Given the description of an element on the screen output the (x, y) to click on. 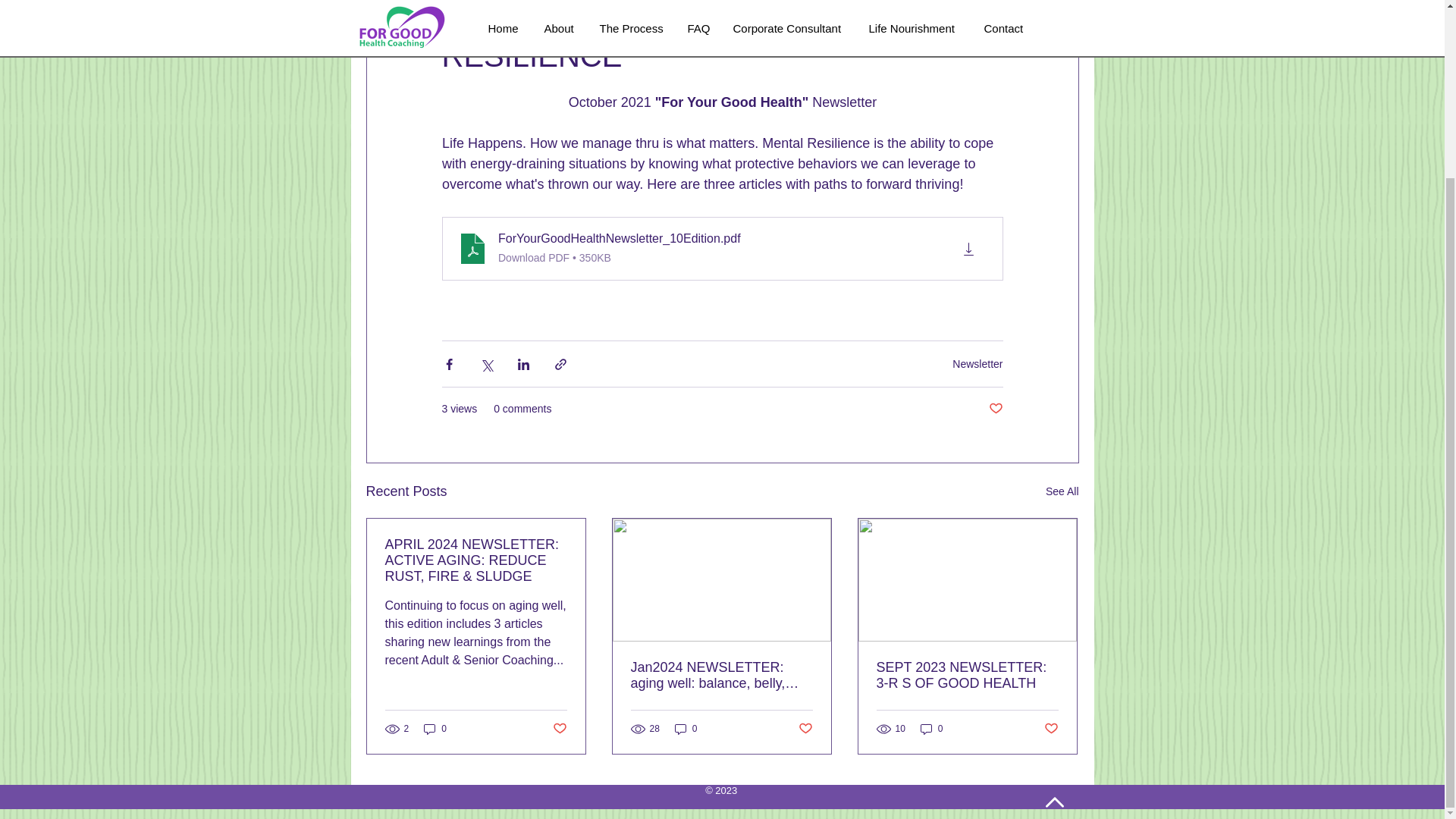
Post not marked as liked (995, 408)
0 (435, 728)
0 (931, 728)
Post not marked as liked (1050, 728)
0 (685, 728)
SEPT 2023 NEWSLETTER: 3-R S OF GOOD HEALTH (967, 675)
Post not marked as liked (558, 728)
See All (1061, 491)
Jan2024 NEWSLETTER: aging well: balance, belly, brain (721, 675)
Post not marked as liked (804, 728)
